Given the description of an element on the screen output the (x, y) to click on. 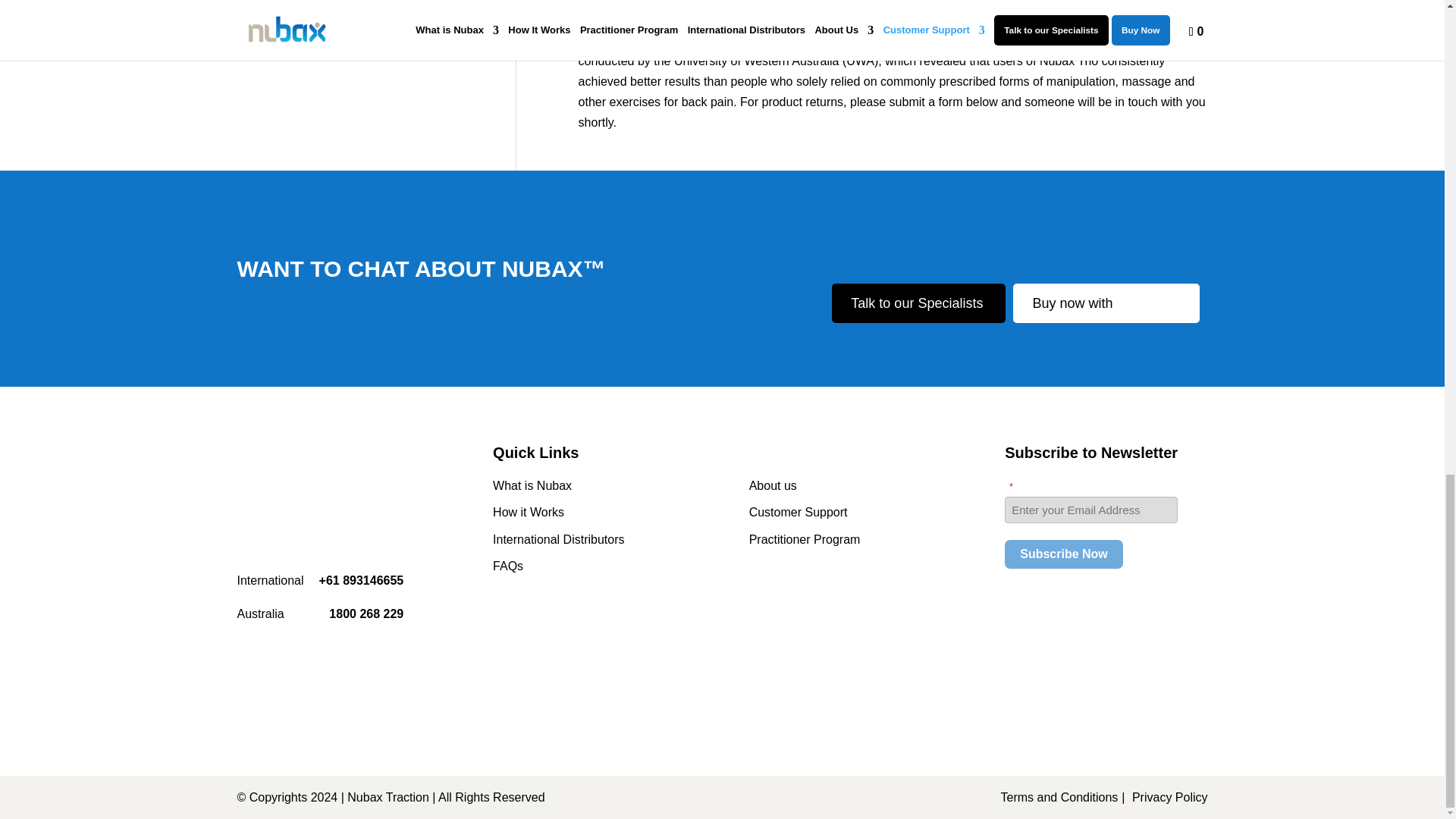
Subscribe Now (1063, 553)
How it Works (528, 512)
Talk to our Specialists (918, 302)
Buy now with (1106, 302)
Privacy Policy (1170, 797)
Subscribe Now (1063, 553)
What is Nubax (532, 485)
Practitioner Program (804, 539)
Terms and Conditions (1061, 797)
1800 268 229 (366, 613)
International Distributors (558, 539)
Customer Support (798, 512)
About us (772, 485)
FAQs (507, 565)
